Given the description of an element on the screen output the (x, y) to click on. 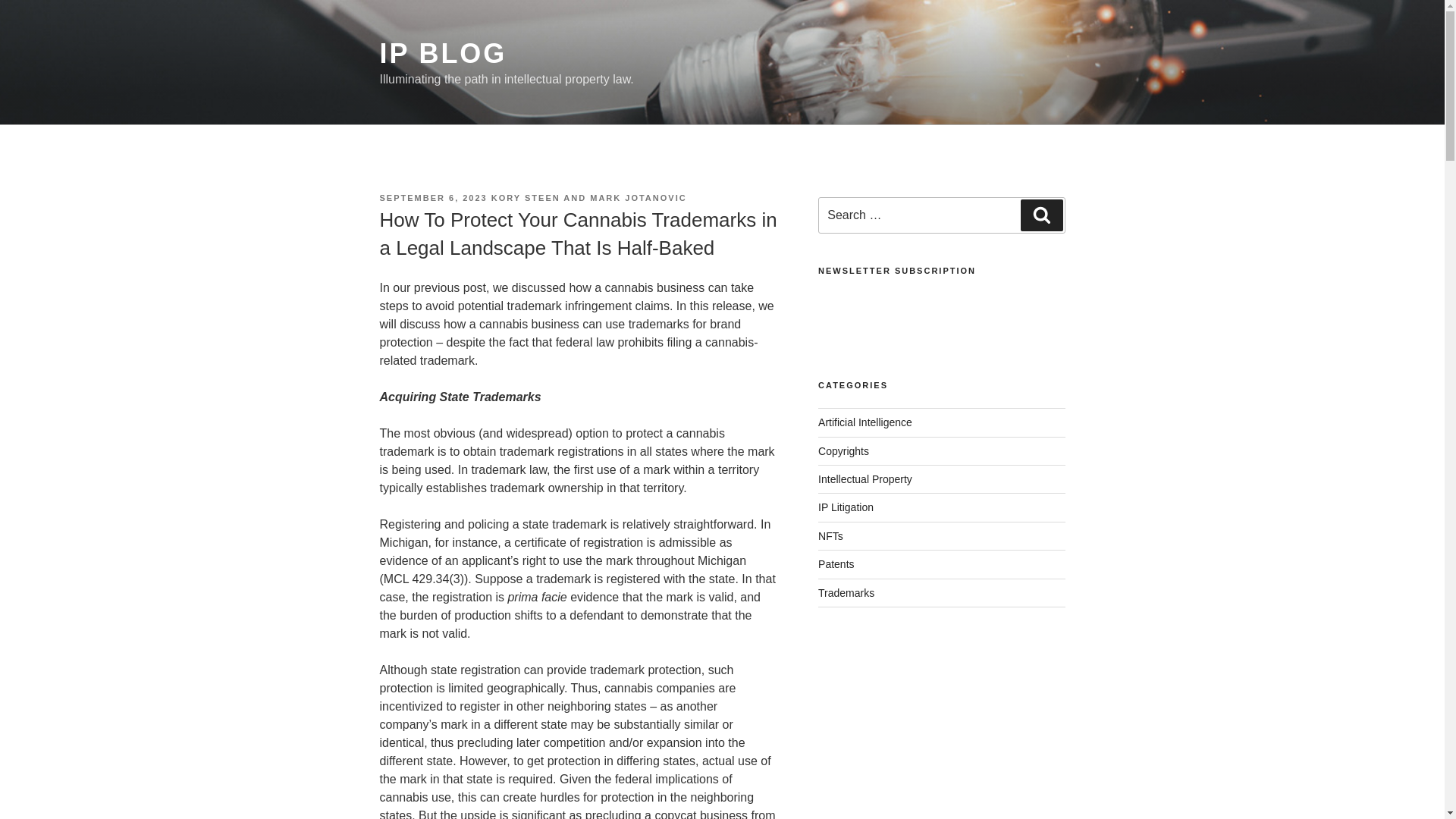
Posts by Kory Steen (526, 197)
NFTs (830, 535)
Trademarks (846, 592)
Search (1041, 214)
IP Litigation (845, 507)
KORY STEEN (526, 197)
MARK JOTANOVIC (637, 197)
Patents (835, 563)
Copyrights (843, 451)
Artificial Intelligence (865, 422)
